Given the description of an element on the screen output the (x, y) to click on. 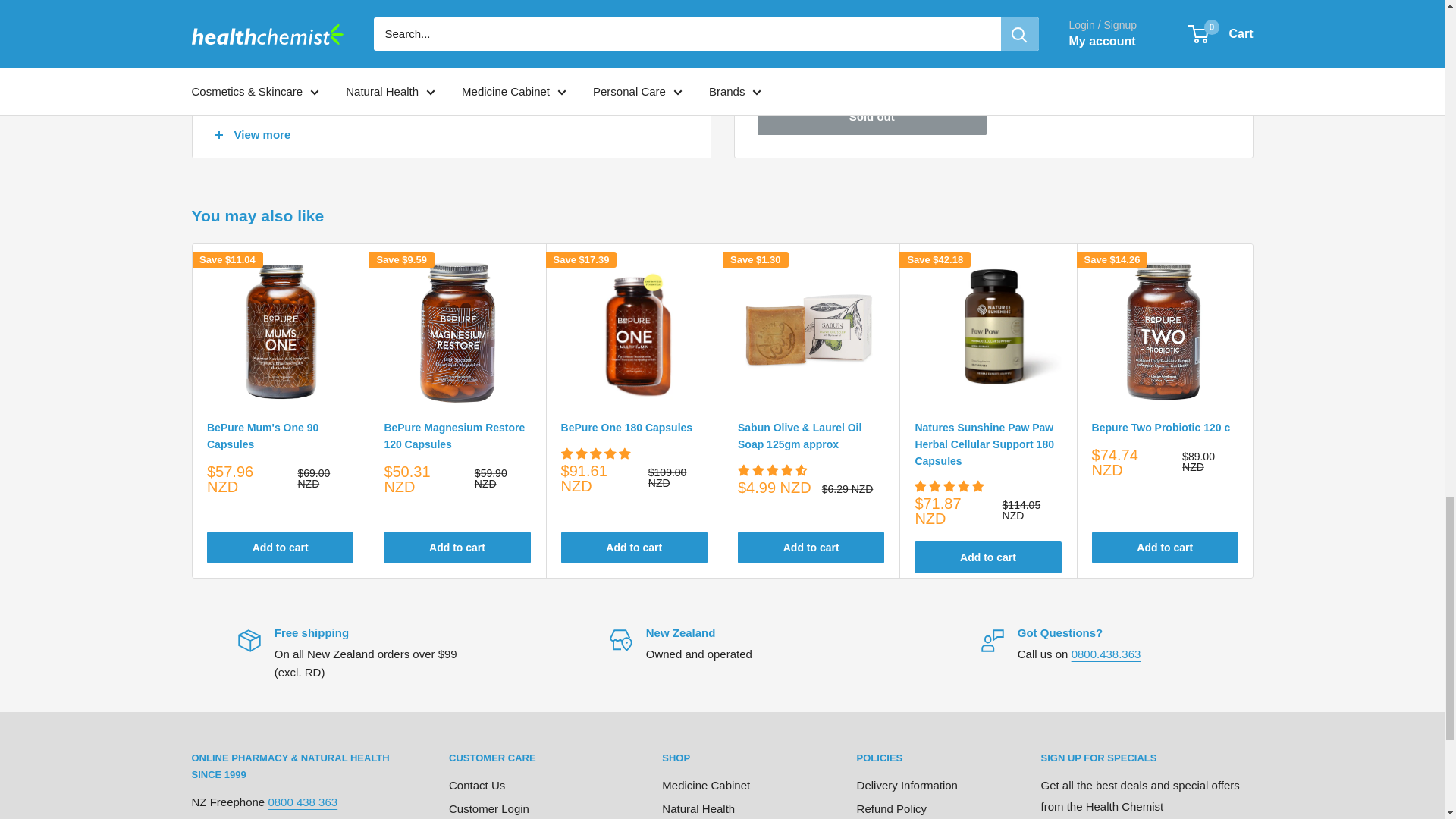
tel:0800.438.363 (1106, 653)
